Given the description of an element on the screen output the (x, y) to click on. 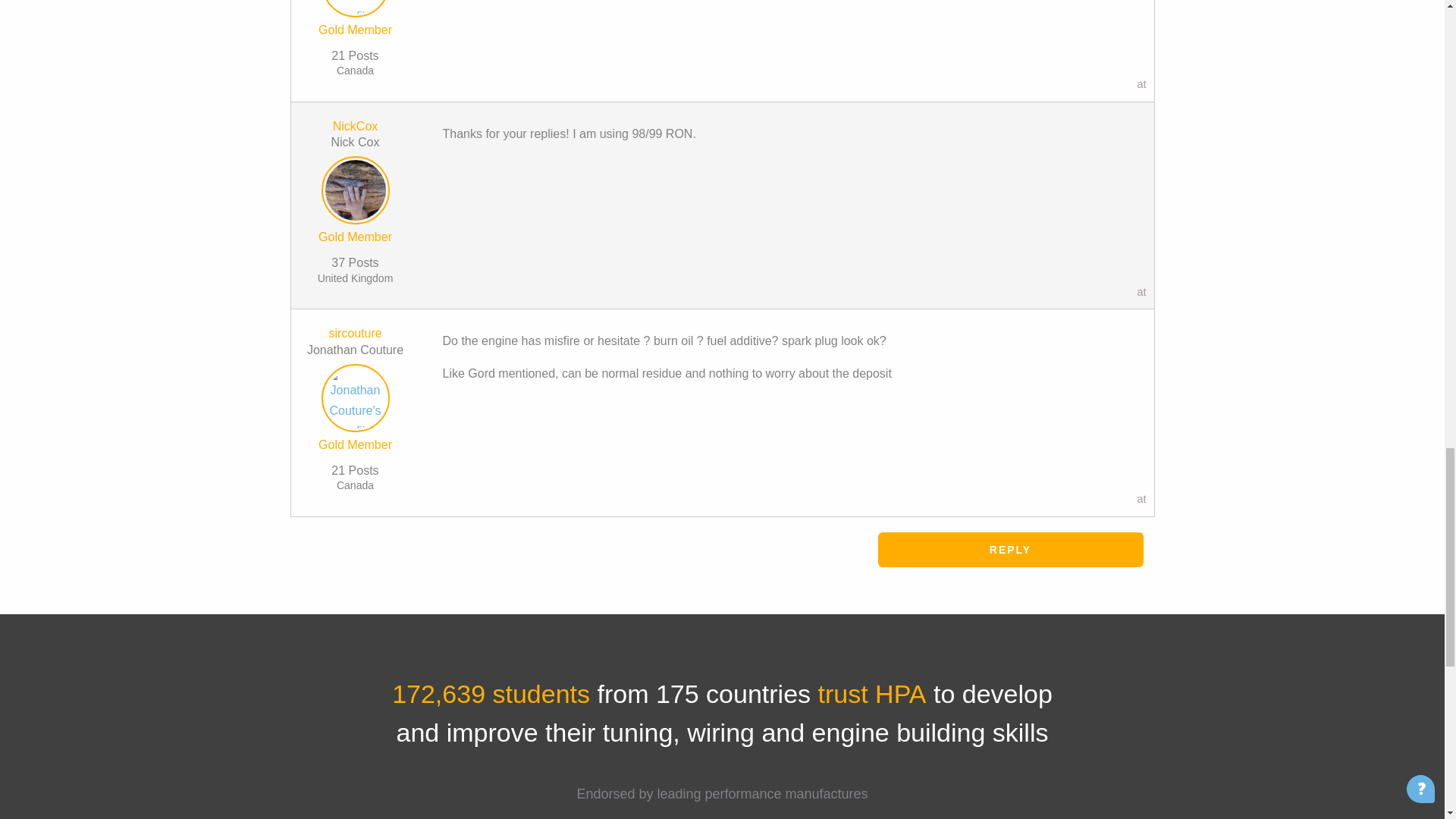
Click here to view NickCox (355, 125)
Click here to reply to this topic (1009, 549)
Click here to view sircouture (355, 400)
Click here to view sircouture (355, 332)
Click here to view NickCox (355, 192)
Click here to view sircouture (355, 9)
